Given the description of an element on the screen output the (x, y) to click on. 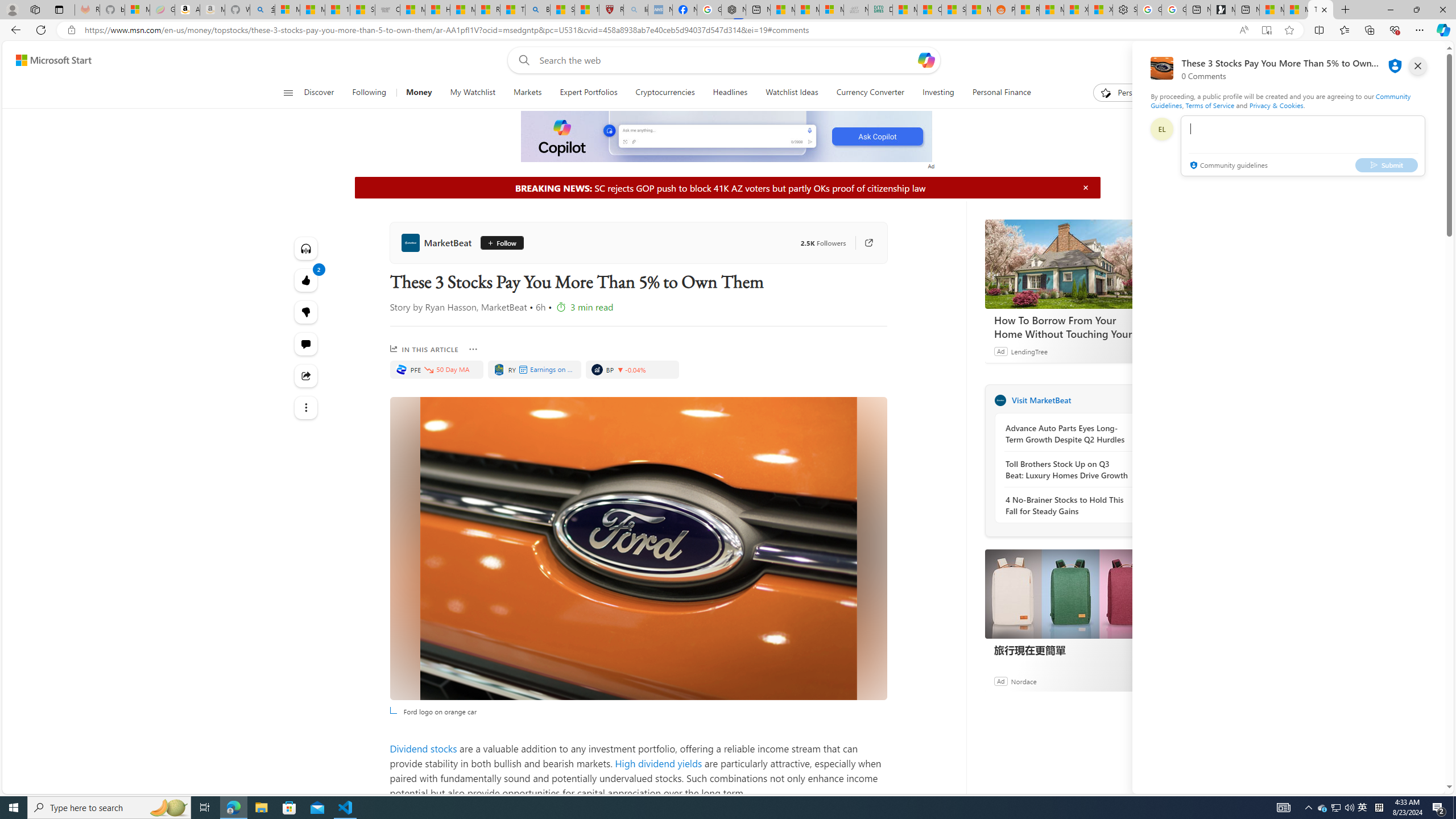
Personal Finance (996, 92)
Toll Brothers Stock Up on Q3 Beat: Luxury Homes Drive Growth (1066, 469)
Watchlist Ideas (792, 92)
Community guidelines (1228, 165)
